Given the description of an element on the screen output the (x, y) to click on. 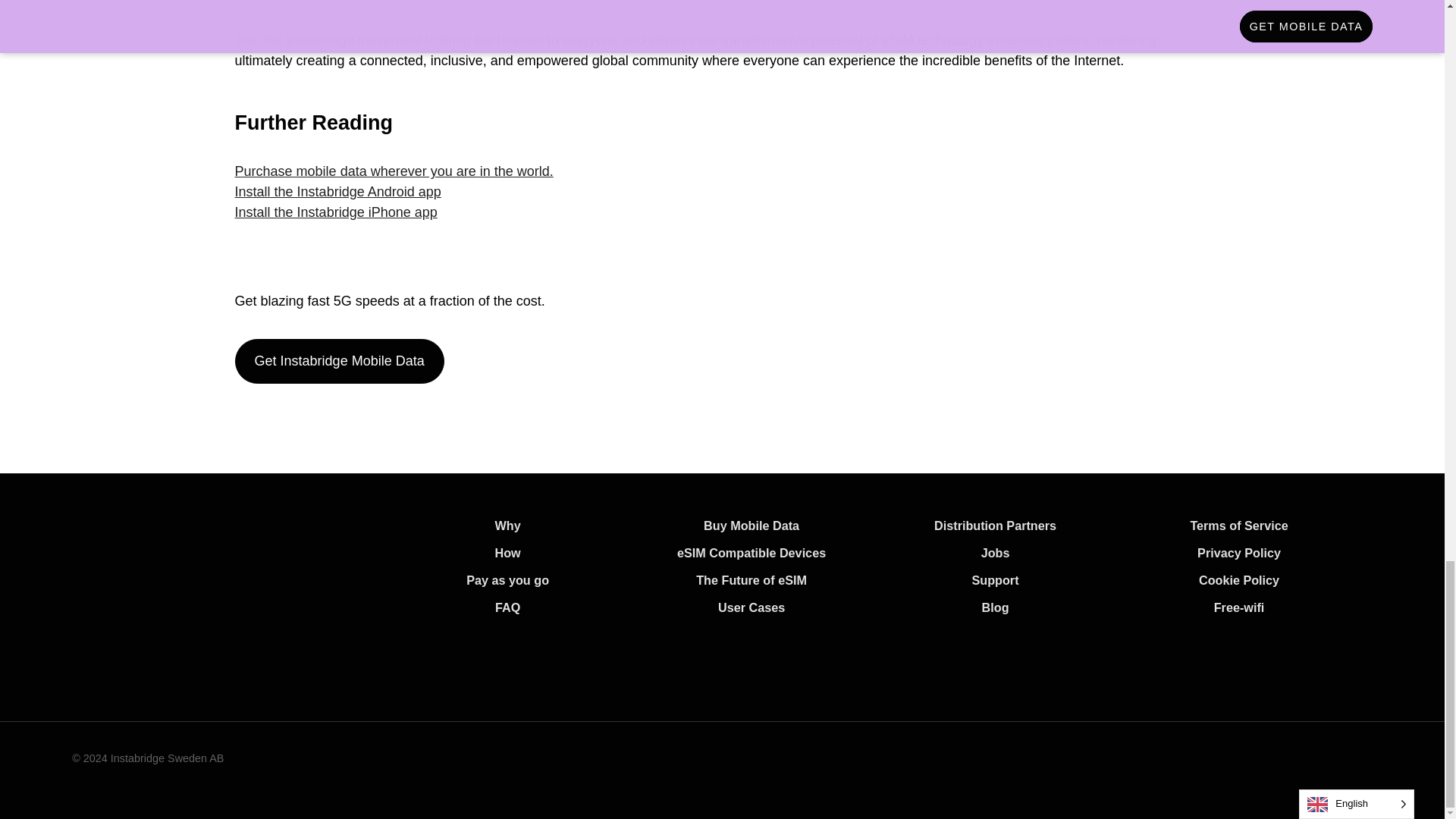
Install the Instabridge Android app (337, 191)
User Cases (750, 607)
Get Instabridge Mobile Data (339, 361)
Support (995, 580)
Distribution Partners (995, 525)
Purchase mobile data wherever you are in the world. (393, 171)
Blog (995, 607)
How (508, 552)
Cookie Policy (1238, 580)
The Future of eSIM (750, 580)
